Given the description of an element on the screen output the (x, y) to click on. 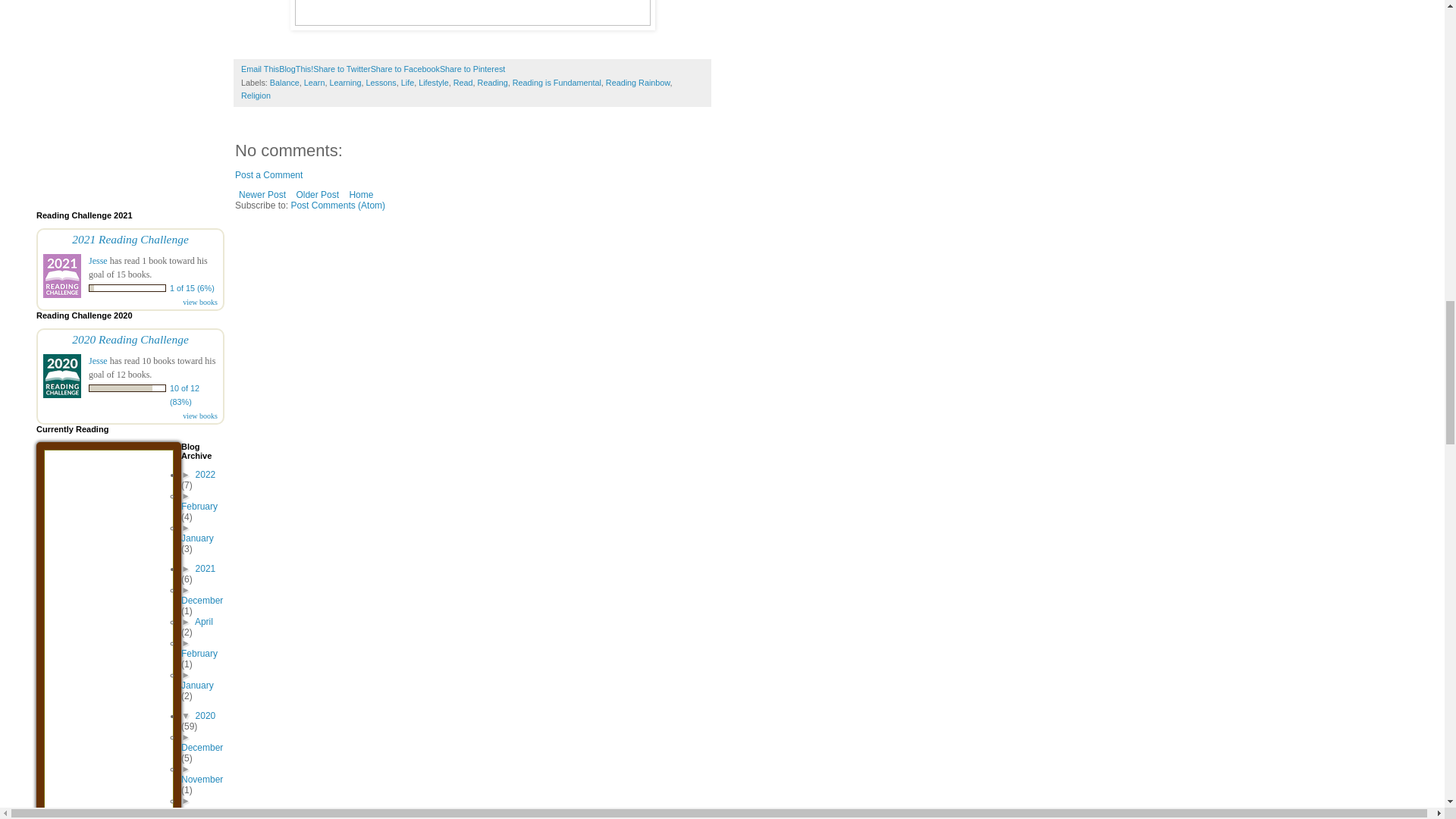
Reading is Fundamental (556, 81)
Learning (345, 81)
Newer Post (261, 194)
Share to Pinterest (472, 68)
Lessons (381, 81)
Newer Post (261, 194)
BlogThis! (296, 68)
Home (361, 194)
Reading (492, 81)
Balance (284, 81)
Email This (260, 68)
Share to Pinterest (472, 68)
Lifestyle (433, 81)
Life (407, 81)
Share to Facebook (405, 68)
